Given the description of an element on the screen output the (x, y) to click on. 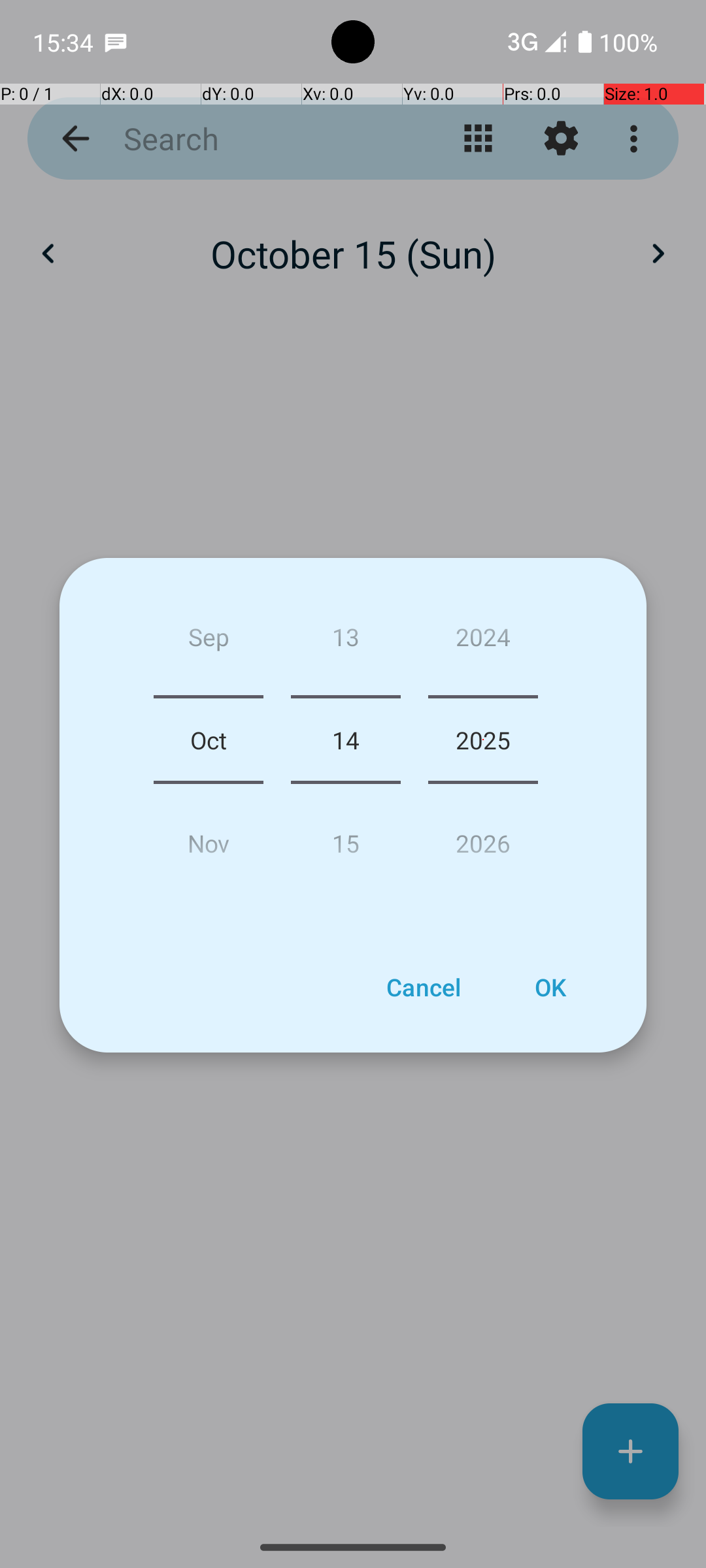
Sep Element type: android.widget.Button (208, 641)
Oct Element type: android.widget.EditText (208, 739)
Nov Element type: android.widget.Button (208, 837)
2024 Element type: android.widget.Button (482, 641)
2025 Element type: android.widget.EditText (482, 739)
2026 Element type: android.widget.Button (482, 837)
